Given the description of an element on the screen output the (x, y) to click on. 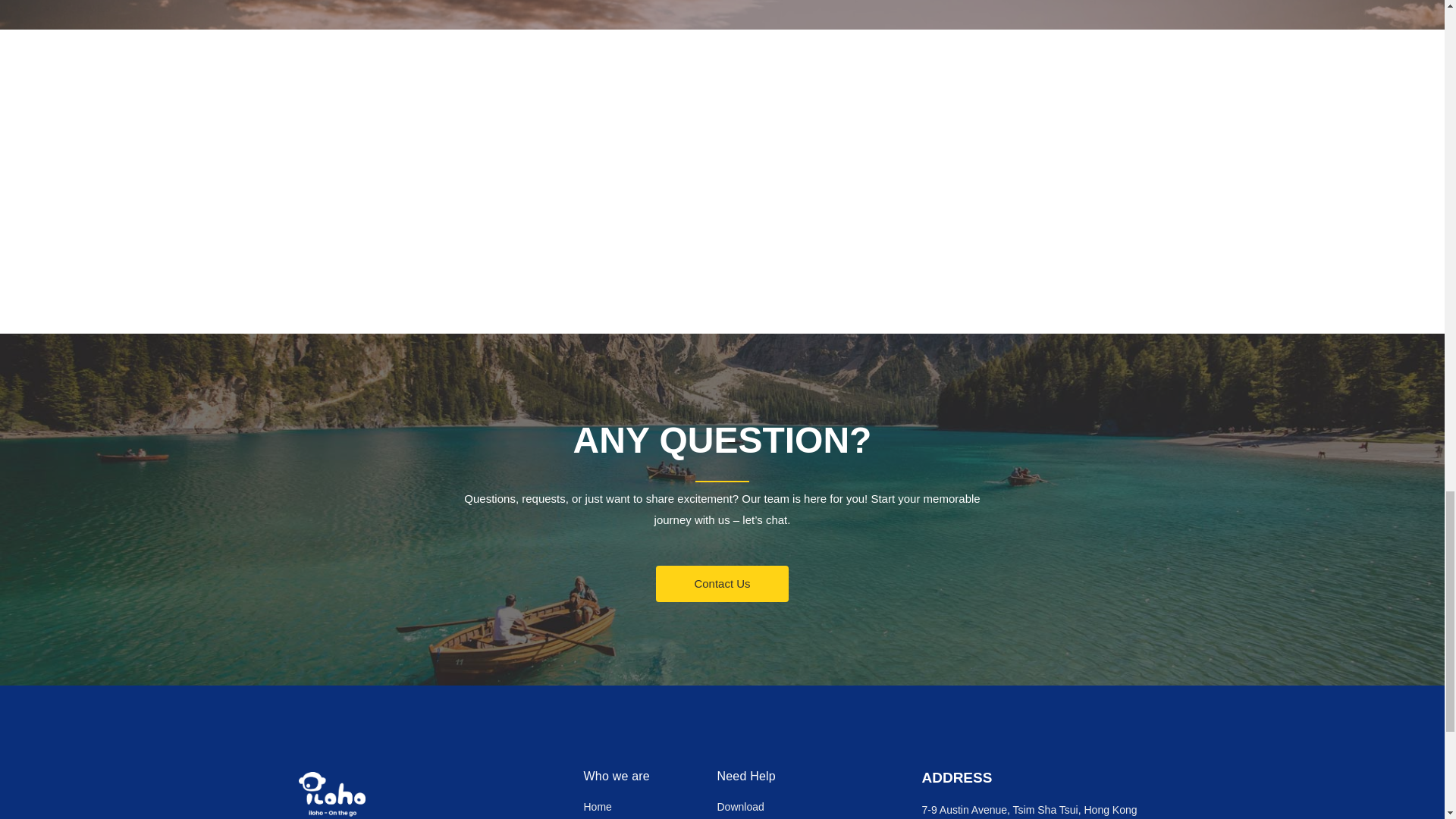
Contact Us (722, 583)
